Given the description of an element on the screen output the (x, y) to click on. 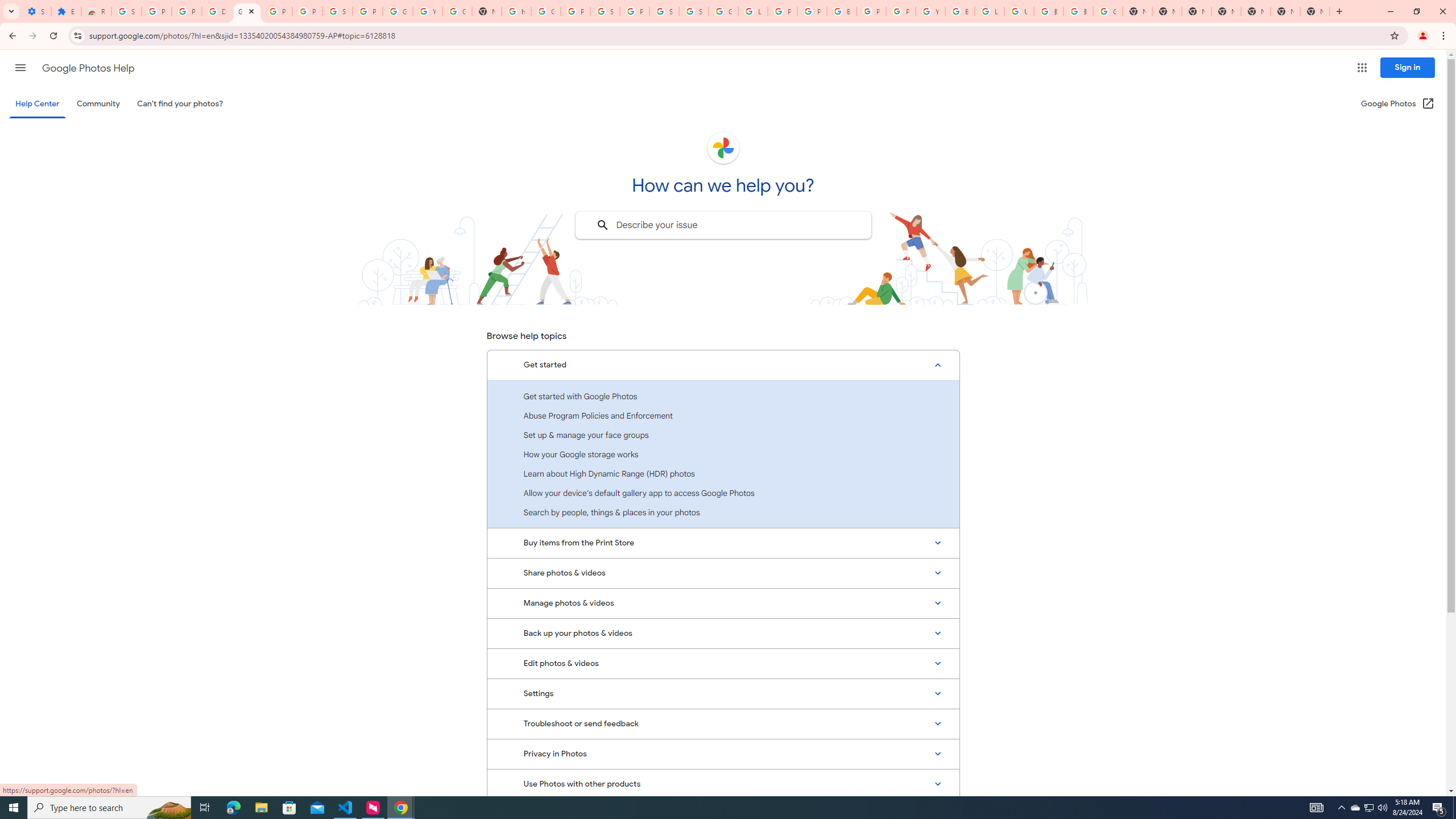
Get started, Expanded list with 7 items (722, 365)
Can't find your photos? (180, 103)
Privacy Help Center - Policies Help (782, 11)
Google Photos Help (247, 11)
New Tab (1314, 11)
Describe your issue to find information that might help you. (722, 225)
